Given the description of an element on the screen output the (x, y) to click on. 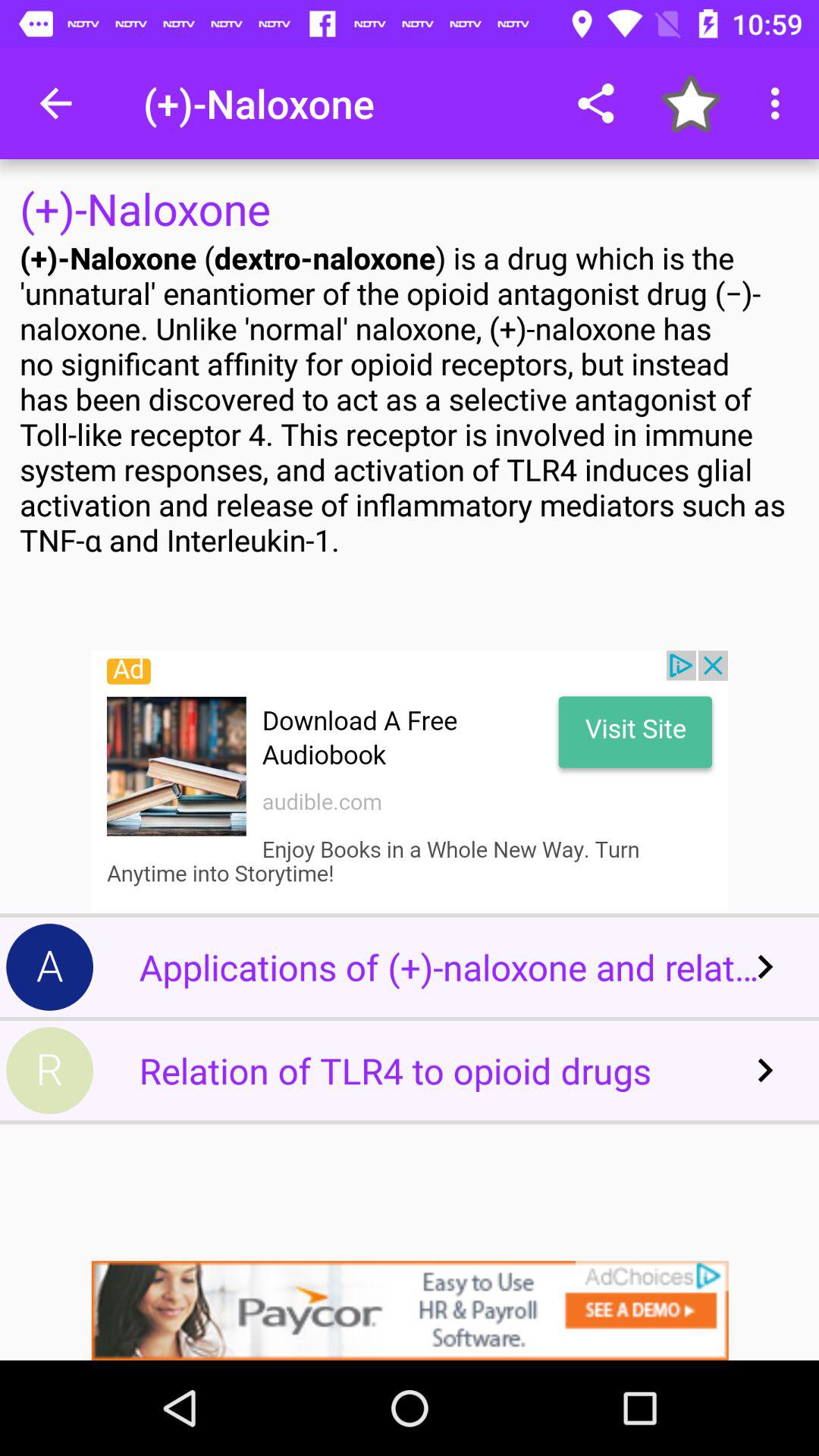
advertisement (409, 781)
